Given the description of an element on the screen output the (x, y) to click on. 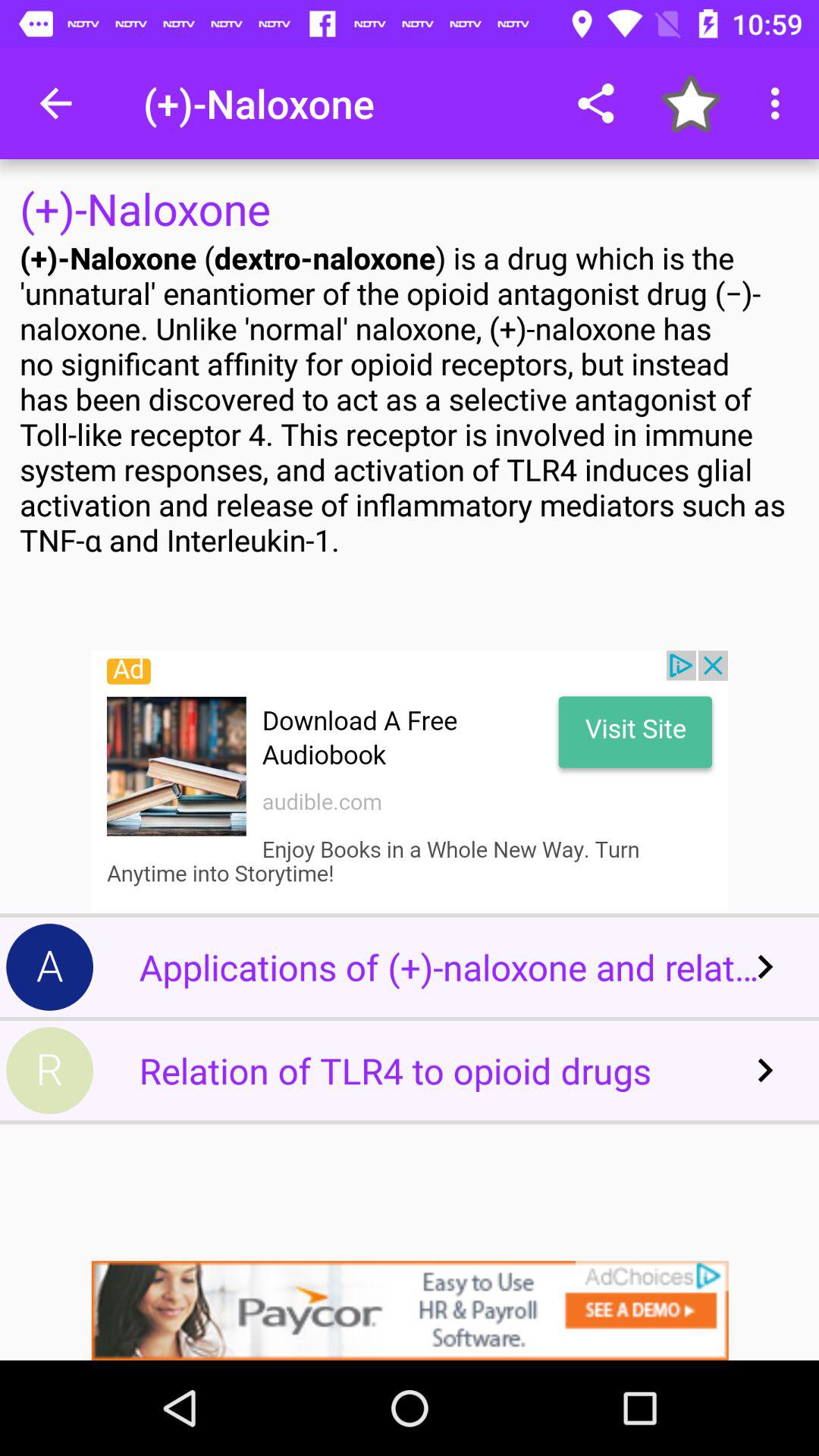
advertisement (409, 781)
